Given the description of an element on the screen output the (x, y) to click on. 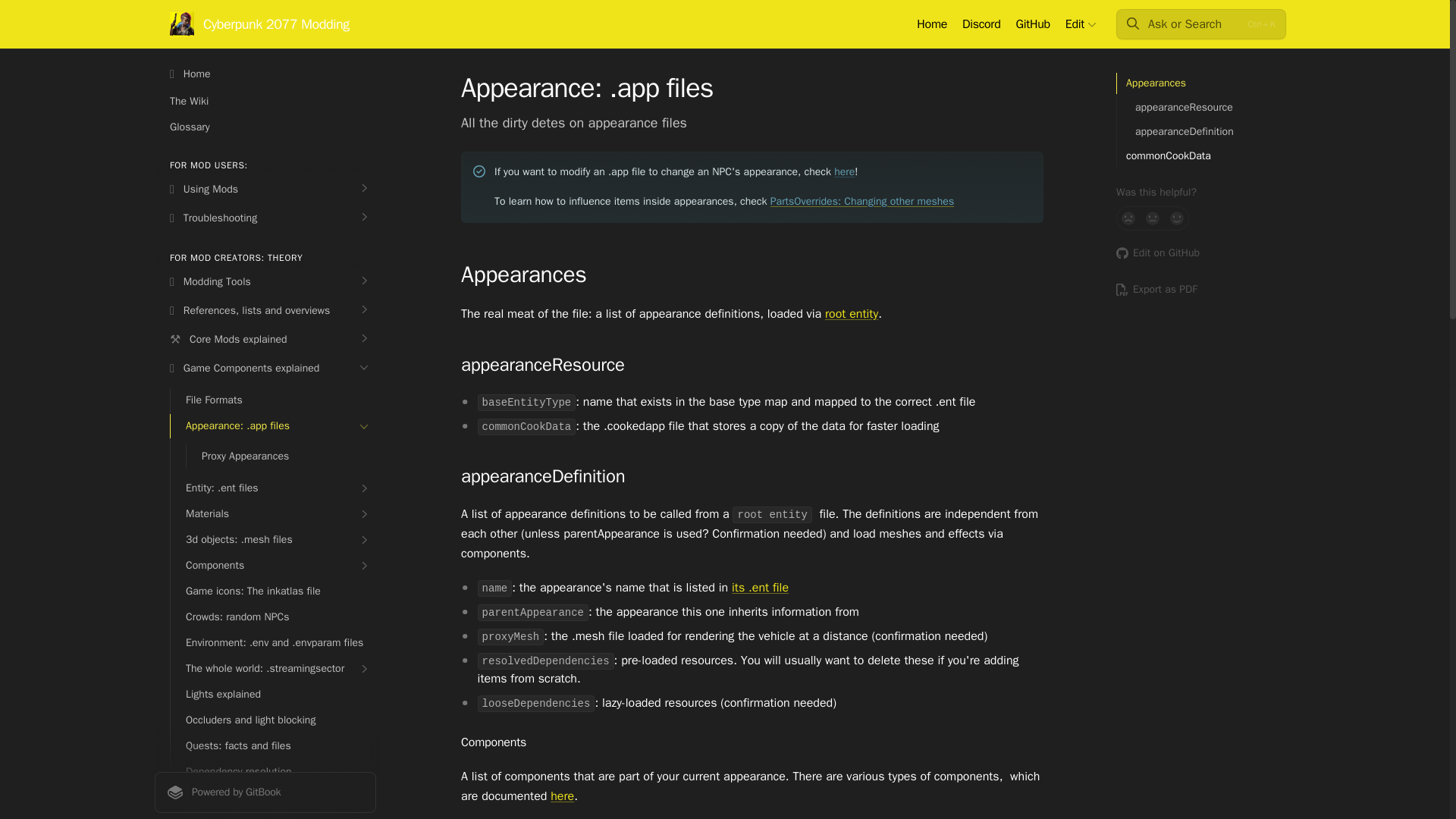
No (1128, 218)
Glossary (264, 127)
Cyberpunk 2077 Modding (259, 24)
Not sure (1152, 218)
The Wiki (264, 101)
Yes, it was! (1176, 218)
